Given the description of an element on the screen output the (x, y) to click on. 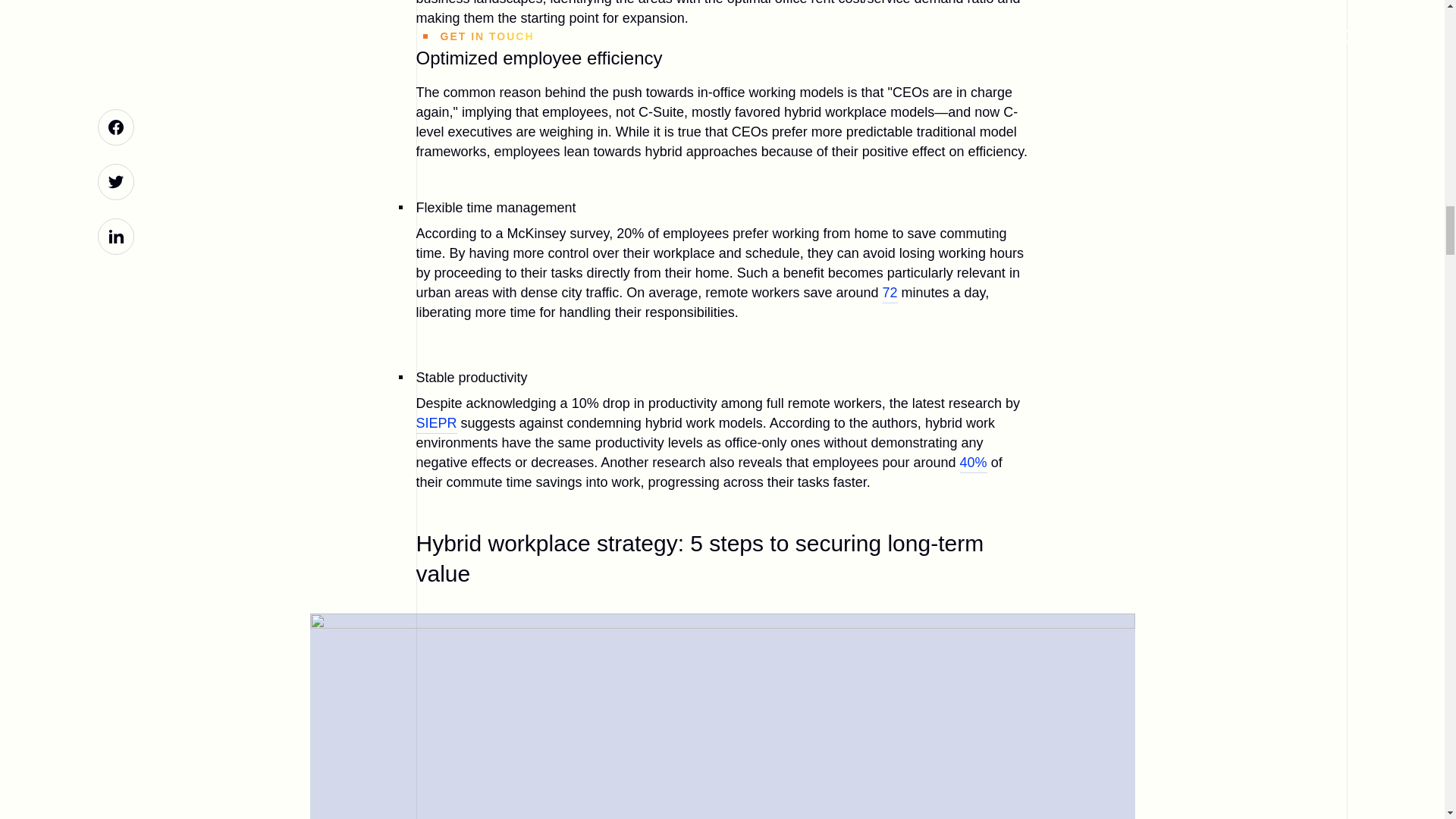
72 (889, 294)
SIEPR (435, 424)
